Given the description of an element on the screen output the (x, y) to click on. 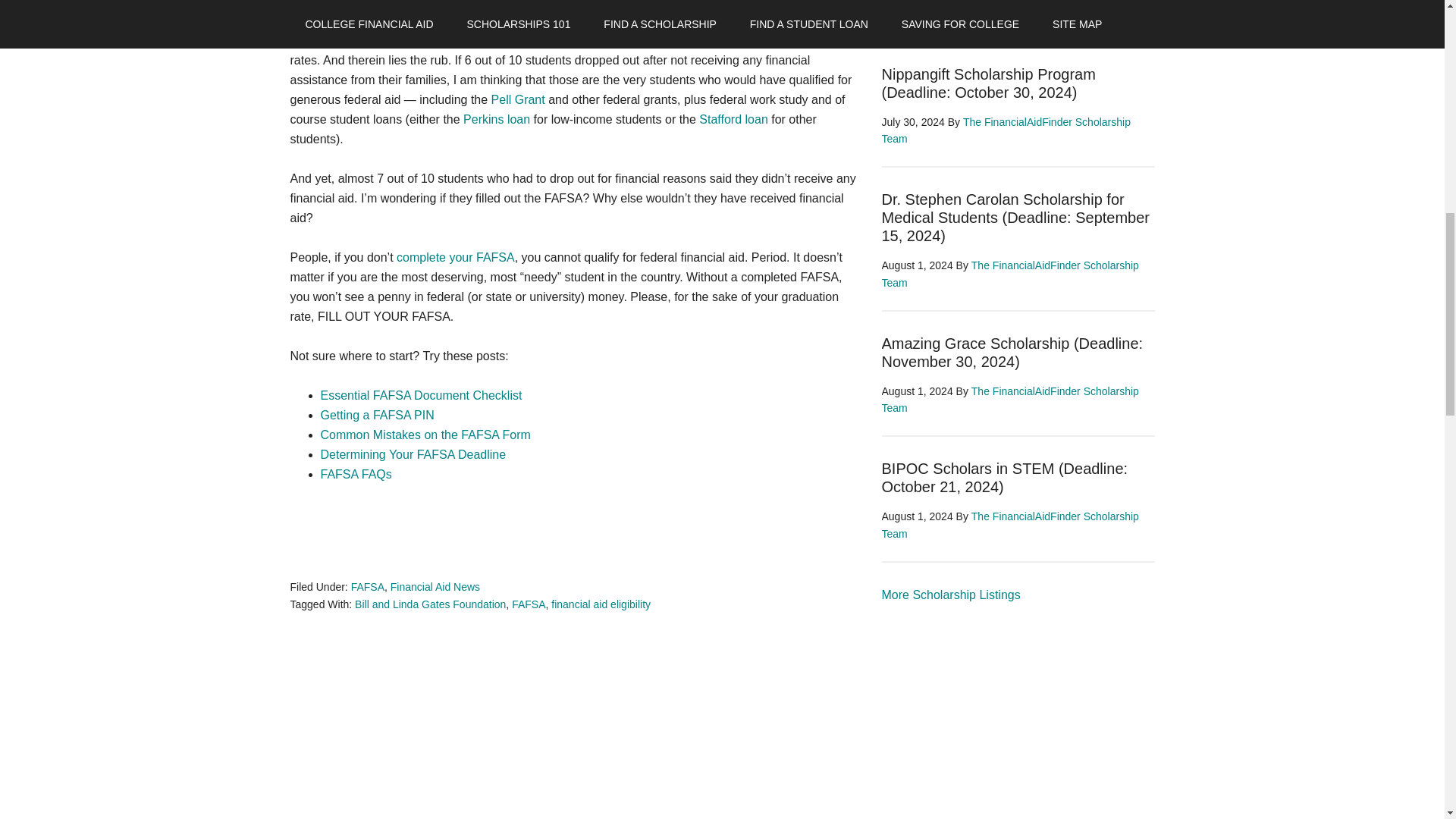
Scholarships (950, 594)
